Given the description of an element on the screen output the (x, y) to click on. 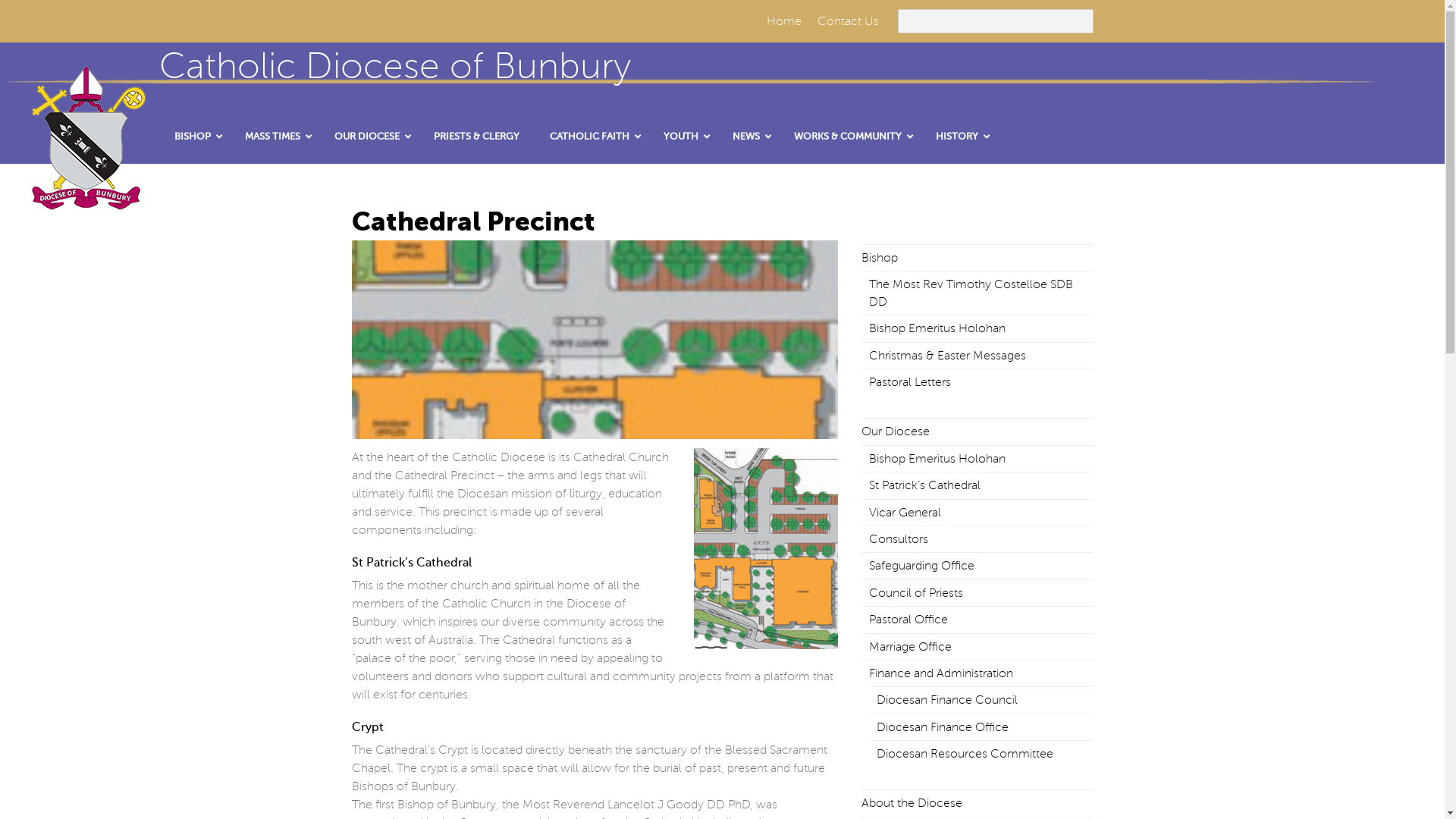
Marriage Office Element type: text (910, 646)
Diocesan Finance Council Element type: text (946, 699)
Diocesan Resources Committee Element type: text (964, 753)
Christmas & Easter Messages Element type: text (947, 355)
Bishop Emeritus Holohan Element type: text (937, 458)
MASS TIMES Element type: text (274, 135)
WORKS & COMMUNITY Element type: text (849, 135)
Contact Us Element type: text (847, 21)
About the Diocese Element type: text (911, 802)
Diocesan Finance Office Element type: text (942, 727)
BISHOP Element type: text (194, 135)
Pastoral Letters Element type: text (909, 382)
crestLogo-resized Element type: hover (83, 133)
Bishop Element type: text (879, 257)
CATHOLIC FAITH Element type: text (591, 135)
Safeguarding Office Element type: text (921, 565)
HISTORY Element type: text (958, 135)
Finance and Administration Element type: text (941, 673)
Vicar General Element type: text (905, 512)
Home Element type: text (782, 21)
Council of Priests Element type: text (916, 592)
NEWS Element type: text (747, 135)
Our Diocese Element type: text (895, 431)
Pastoral Office Element type: text (908, 619)
OUR DIOCESE Element type: text (368, 135)
PRIESTS & CLERGY Element type: text (476, 135)
Consultors Element type: text (898, 539)
YOUTH Element type: text (682, 135)
Bunbury Catholic Diocese Element type: hover (83, 192)
The Most Rev Timothy Costelloe SDB DD Element type: text (971, 292)
Bishop Emeritus Holohan Element type: text (937, 328)
